Given the description of an element on the screen output the (x, y) to click on. 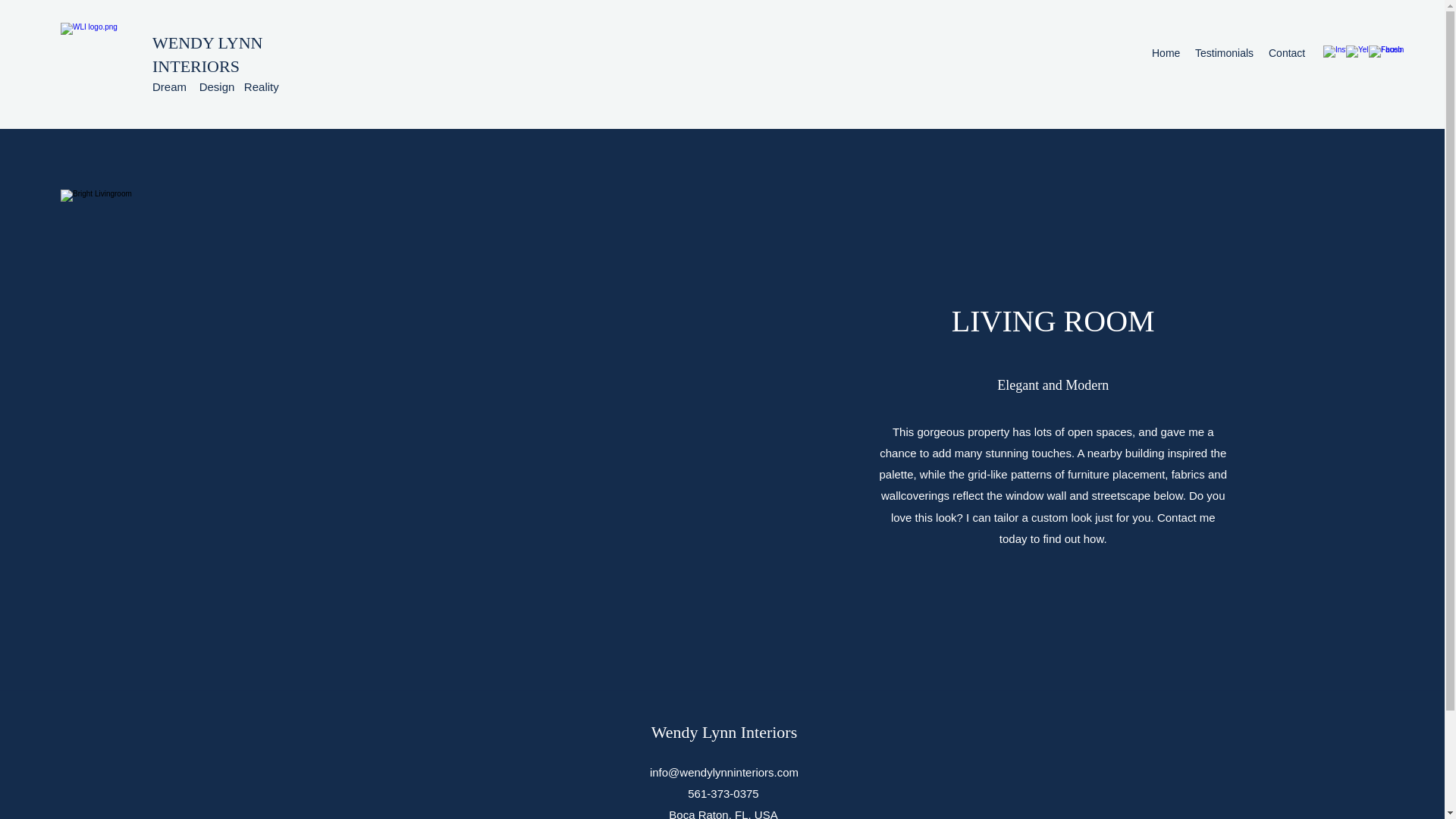
Home (1166, 52)
Wendy Lynn Interiors (723, 732)
Contact (1286, 52)
WENDY LYNN INTERIORS (207, 54)
Testimonials (1224, 52)
